Given the description of an element on the screen output the (x, y) to click on. 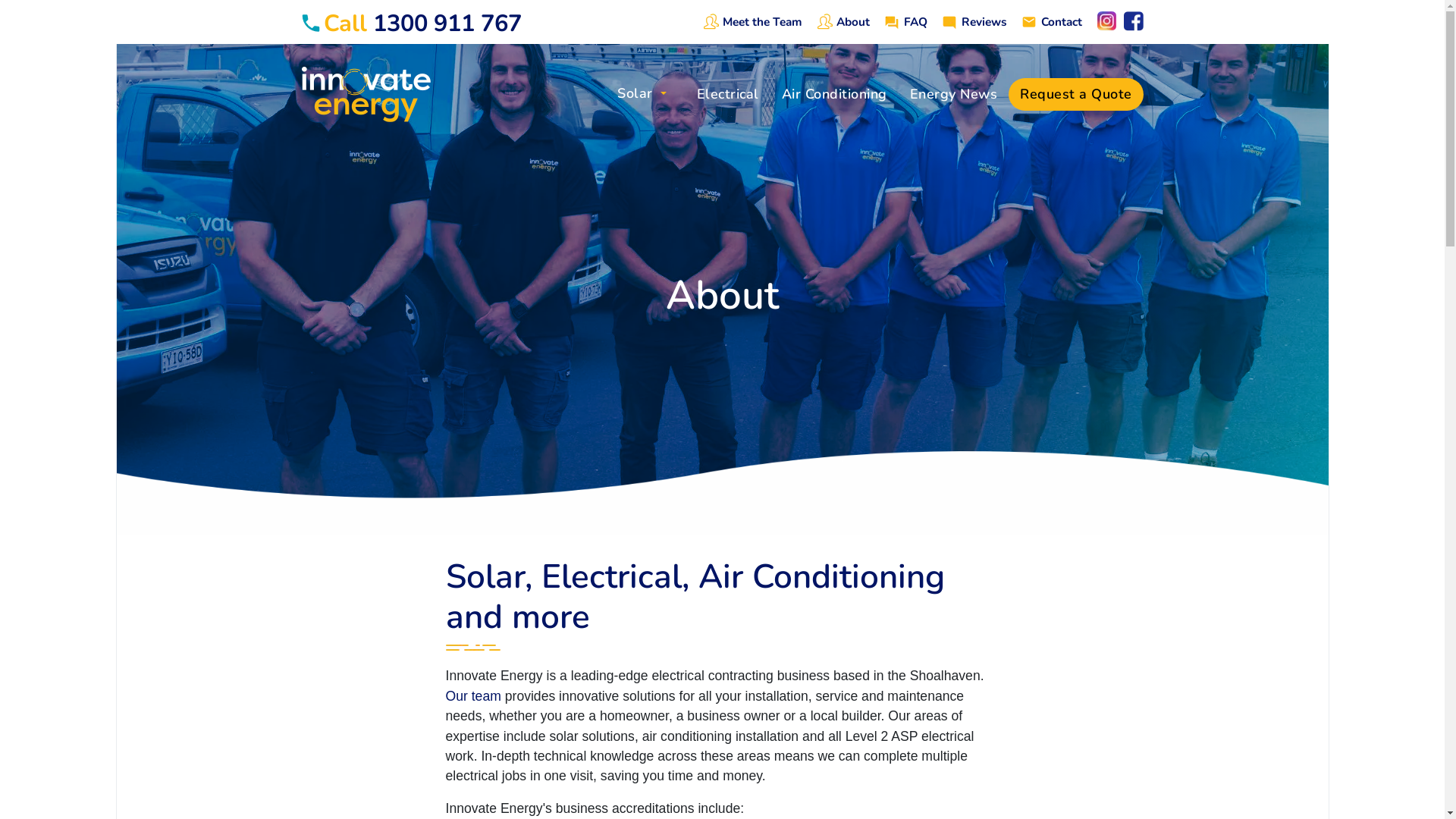
Energy News Element type: text (952, 94)
Electrical Element type: text (727, 94)
Contact Element type: text (1059, 19)
Request a Quote Element type: text (1075, 94)
Call 1300 911 767 Element type: text (411, 21)
Our team Element type: text (473, 695)
Air Conditioning Element type: text (834, 94)
Meet the Team Element type: text (760, 19)
About Element type: text (850, 19)
FAQ Element type: text (913, 19)
Solar Element type: text (641, 99)
Reviews Element type: text (982, 19)
